Given the description of an element on the screen output the (x, y) to click on. 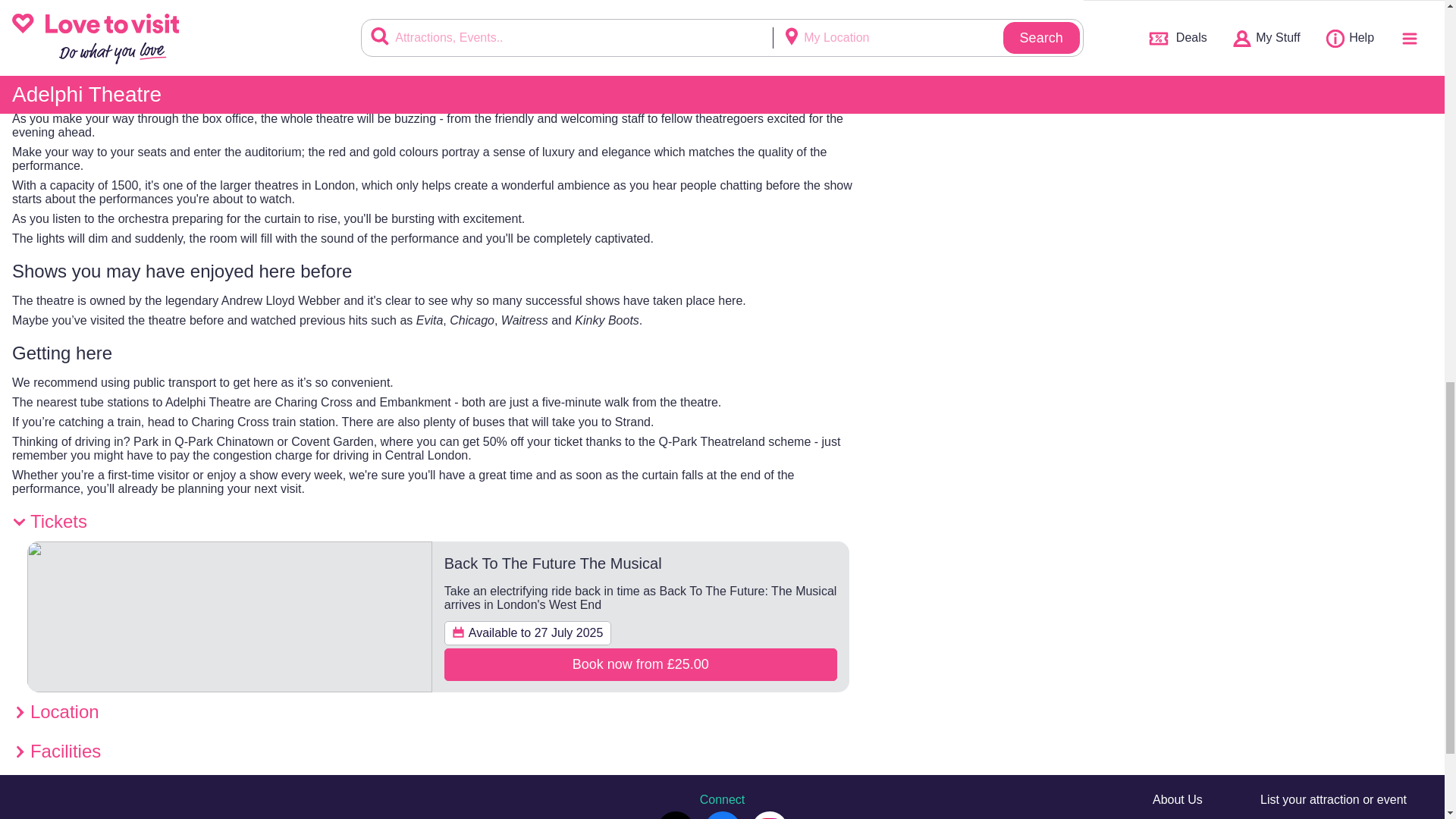
List your attraction or event (1333, 799)
Back To The Future The Musical (553, 563)
About Us (1177, 799)
Tickets (437, 521)
Location (437, 712)
Facilities (437, 751)
